Given the description of an element on the screen output the (x, y) to click on. 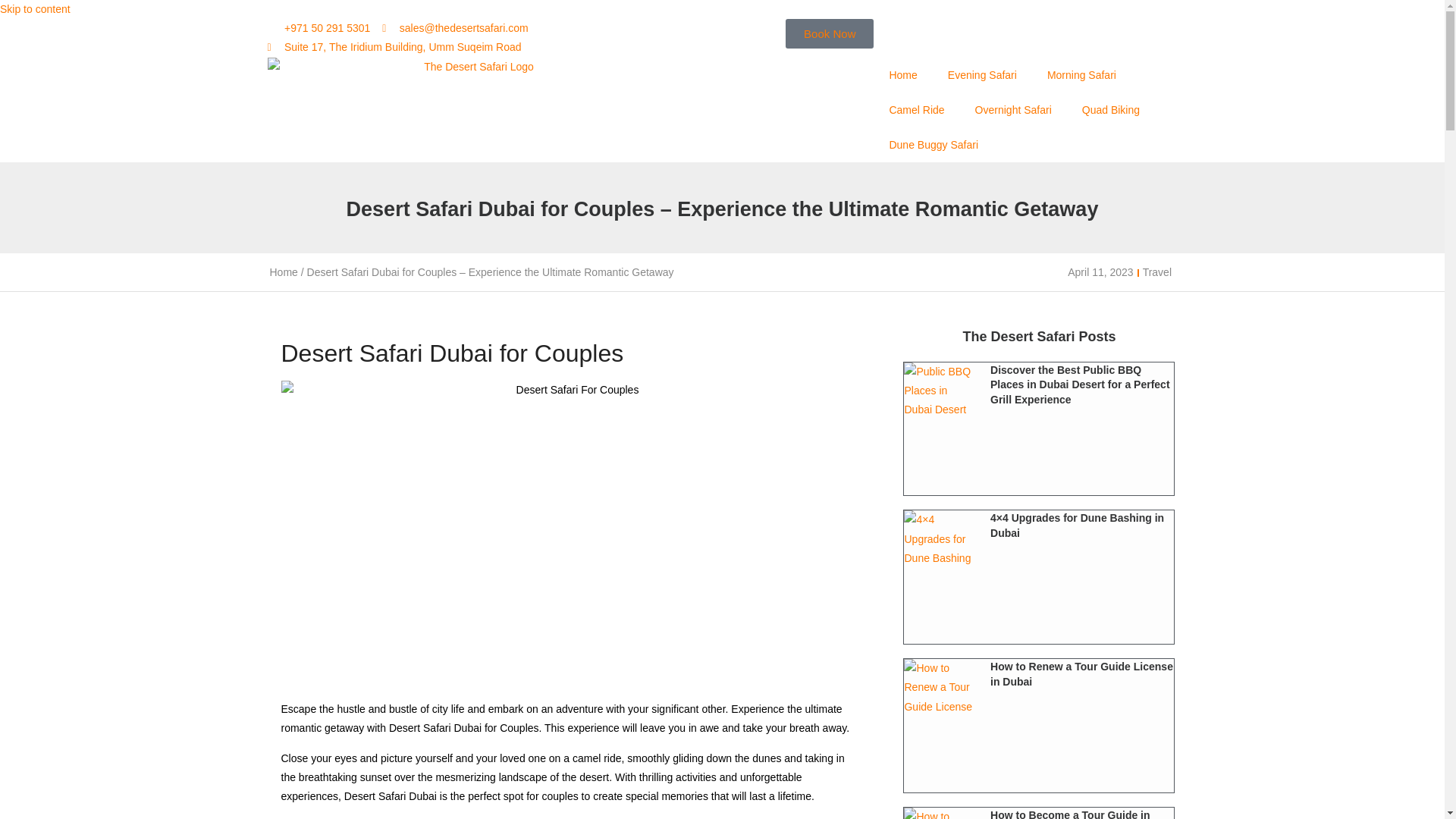
Evening Safari (982, 74)
Morning Desert Safari (1081, 74)
Home (902, 74)
Desert Safari Dubai (902, 74)
Quad Biking (1110, 109)
Camel Ride (916, 109)
Home (283, 272)
Suite 17, The Iridium Building, Umm Suqeim Road (393, 46)
Skip to content (34, 9)
Camel Desert Safari (916, 109)
